Given the description of an element on the screen output the (x, y) to click on. 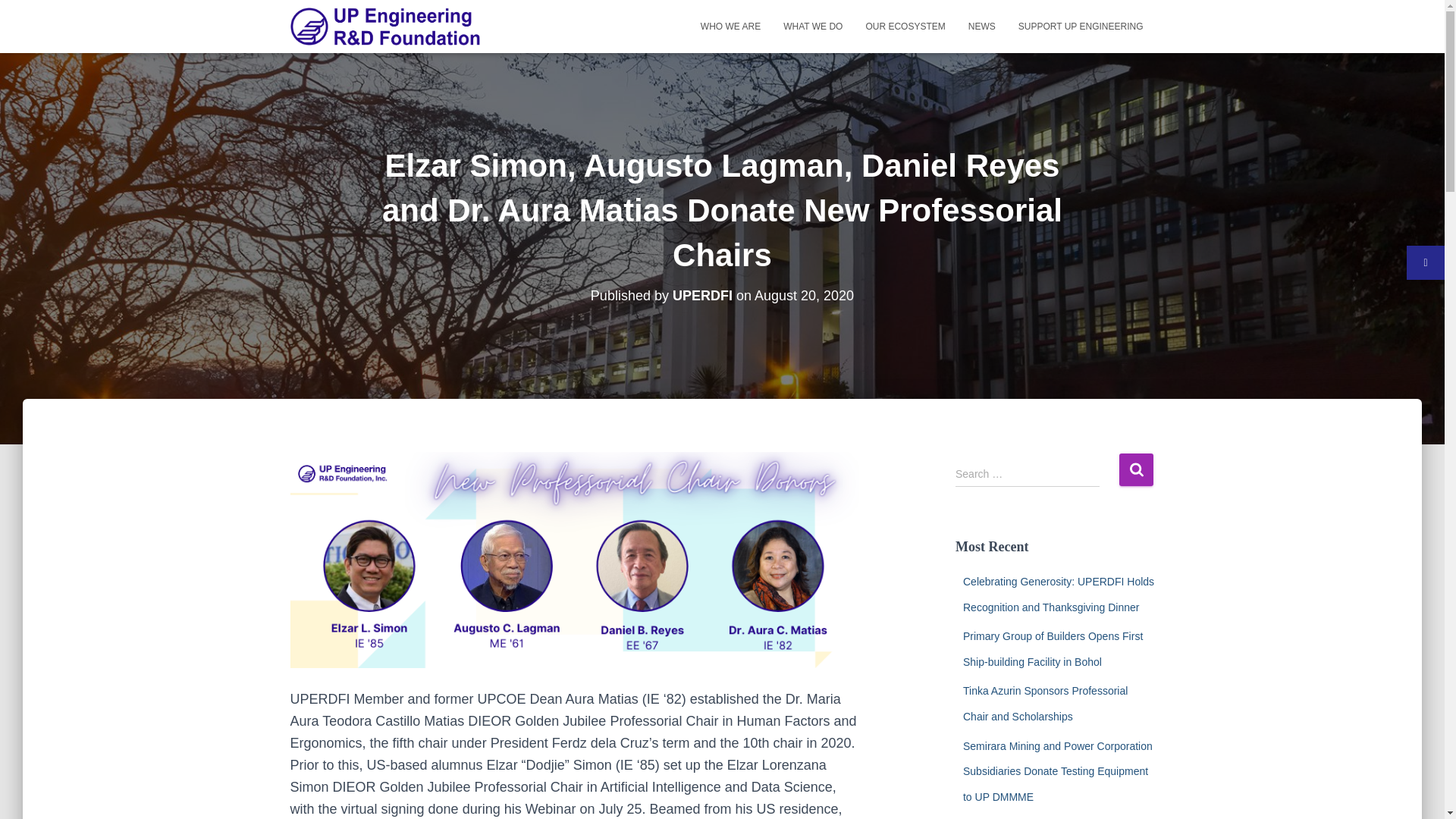
Support UP Engineering (1080, 26)
Our Ecosystem (904, 26)
NEWS (981, 26)
Search (1136, 469)
Search (1136, 469)
UPERDFI (702, 295)
Tinka Azurin Sponsors Professorial Chair and Scholarships (1044, 703)
SUPPORT UP ENGINEERING (1080, 26)
Search (1136, 469)
OUR ECOSYSTEM (904, 26)
Who We Are (729, 26)
WHAT WE DO (812, 26)
What We Do (812, 26)
